Given the description of an element on the screen output the (x, y) to click on. 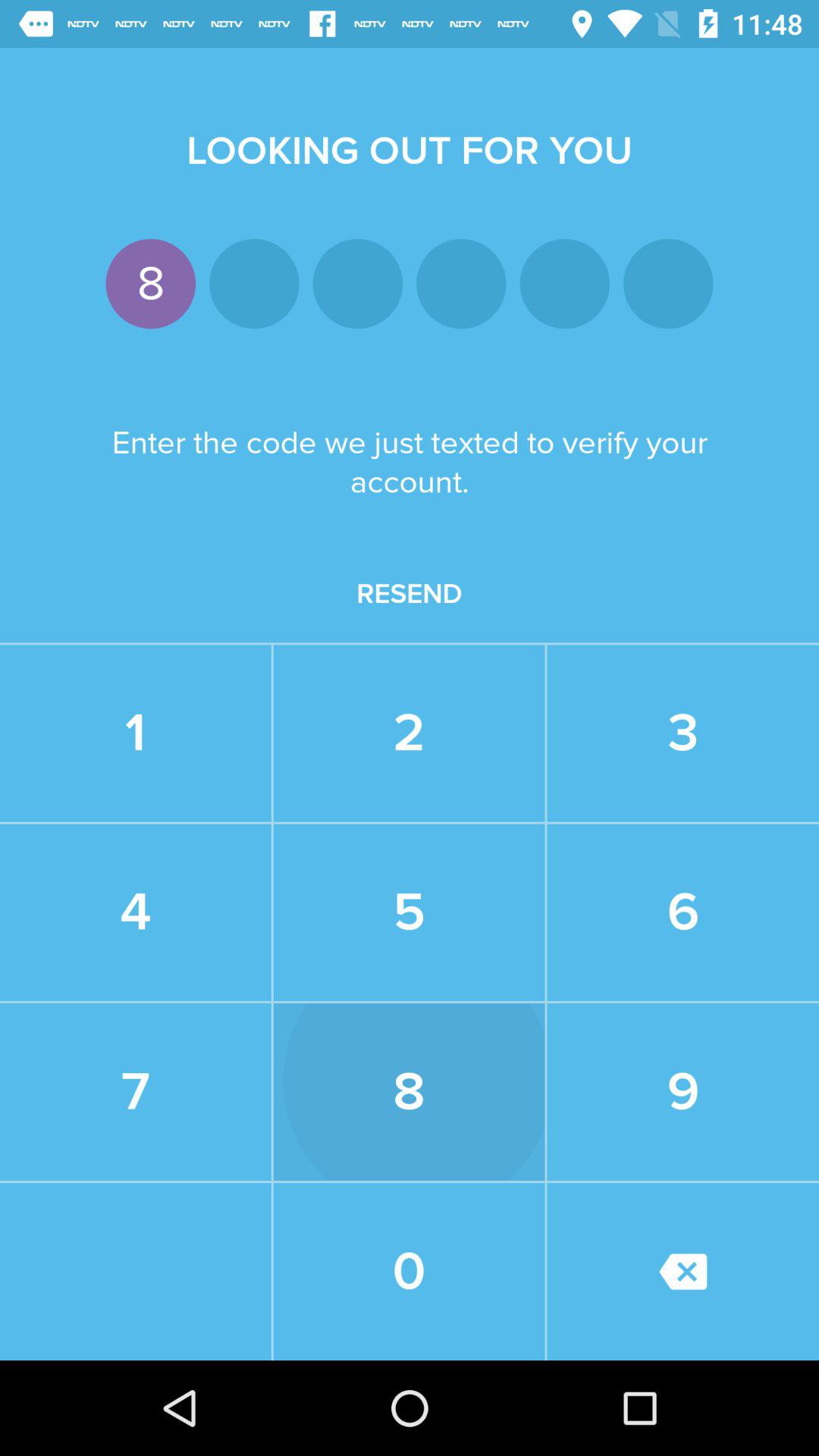
tap 3 item (683, 732)
